Given the description of an element on the screen output the (x, y) to click on. 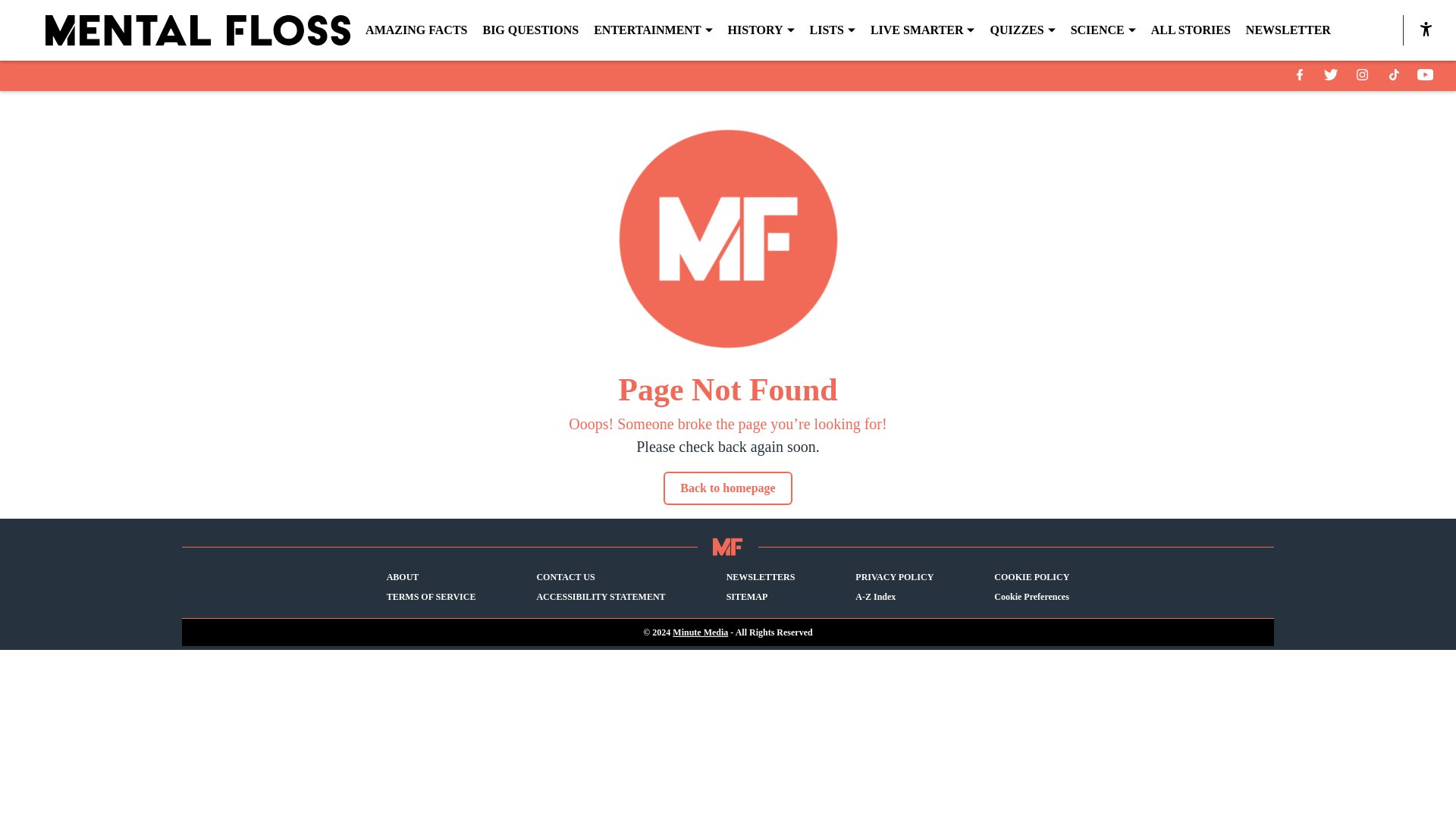
ALL STORIES (1190, 30)
BIG QUESTIONS (529, 30)
Error image (727, 238)
NEWSLETTER (1288, 30)
AMAZING FACTS (416, 30)
